Given the description of an element on the screen output the (x, y) to click on. 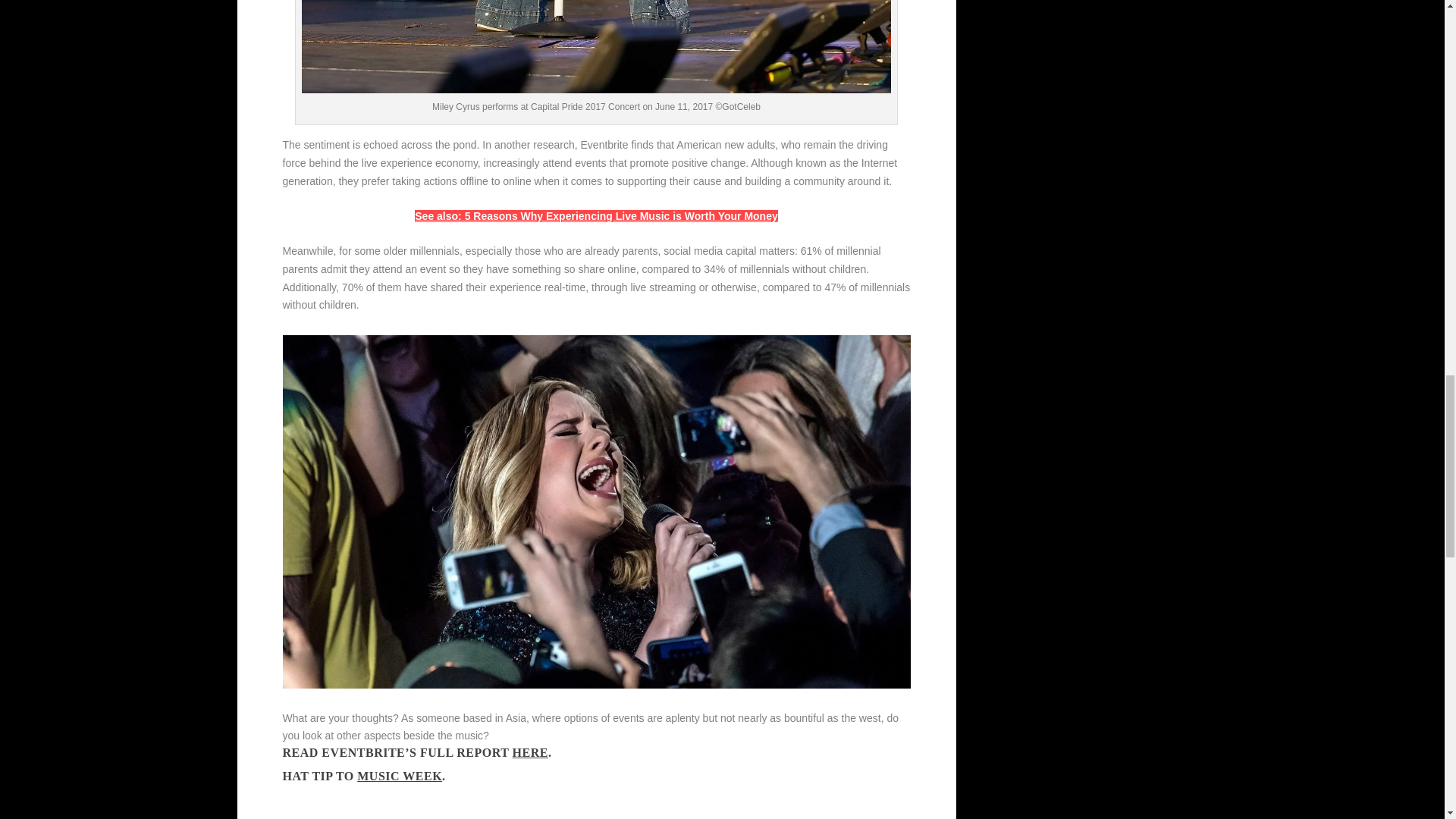
5 Reasons Why Experiencing Live Music is Worth Your Money (595, 215)
